Given the description of an element on the screen output the (x, y) to click on. 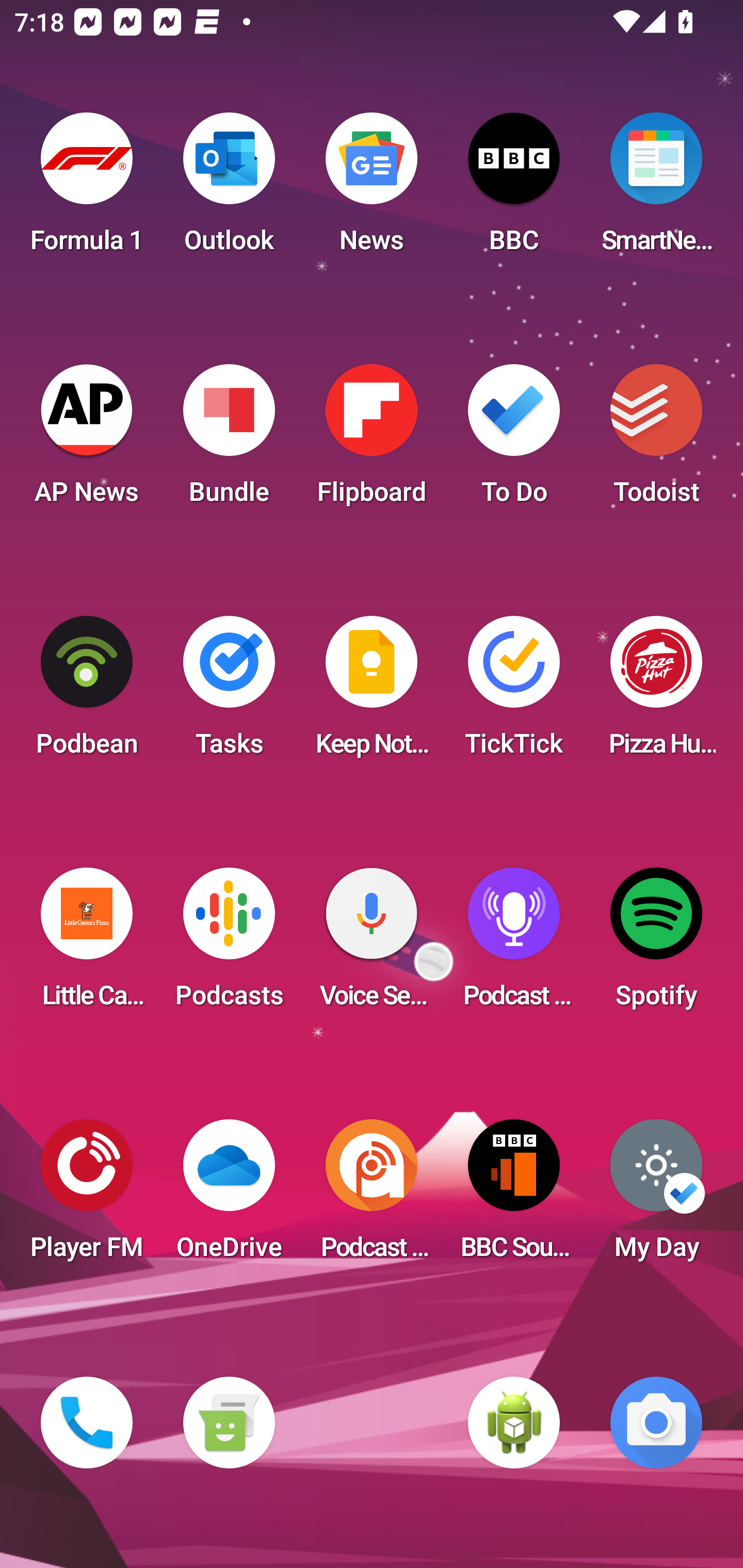
Formula 1 (86, 188)
Outlook (228, 188)
News (371, 188)
BBC (513, 188)
SmartNews (656, 188)
AP News (86, 440)
Bundle (228, 440)
Flipboard (371, 440)
To Do (513, 440)
Todoist (656, 440)
Podbean (86, 692)
Tasks (228, 692)
Keep Notes (371, 692)
TickTick (513, 692)
Pizza Hut HK & Macau (656, 692)
Little Caesars Pizza (86, 943)
Podcasts (228, 943)
Voice Search (371, 943)
Podcast Player (513, 943)
Spotify (656, 943)
Player FM (86, 1195)
OneDrive (228, 1195)
Podcast Addict (371, 1195)
BBC Sounds (513, 1195)
My Day (656, 1195)
Phone (86, 1422)
Messaging (228, 1422)
WebView Browser Tester (513, 1422)
Camera (656, 1422)
